Given the description of an element on the screen output the (x, y) to click on. 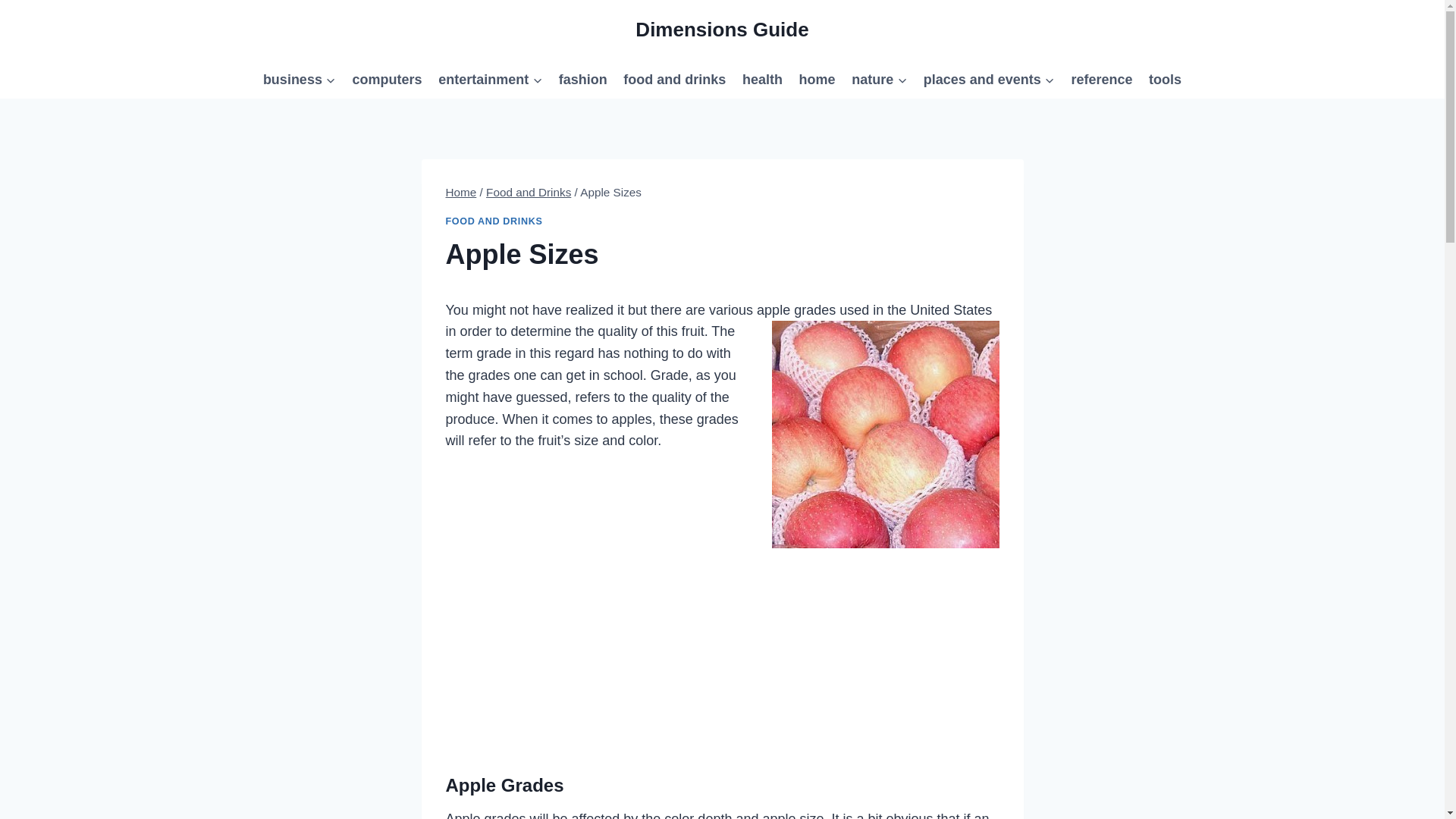
FOOD AND DRINKS (494, 221)
business (298, 79)
Dimensions Guide (721, 29)
entertainment (489, 79)
places and events (988, 79)
computers (386, 79)
Home (461, 192)
home (817, 79)
food and drinks (675, 79)
nature (879, 79)
Advertisement (721, 642)
reference (1101, 79)
Food and Drinks (528, 192)
Apple Sizes (884, 434)
health (761, 79)
